Given the description of an element on the screen output the (x, y) to click on. 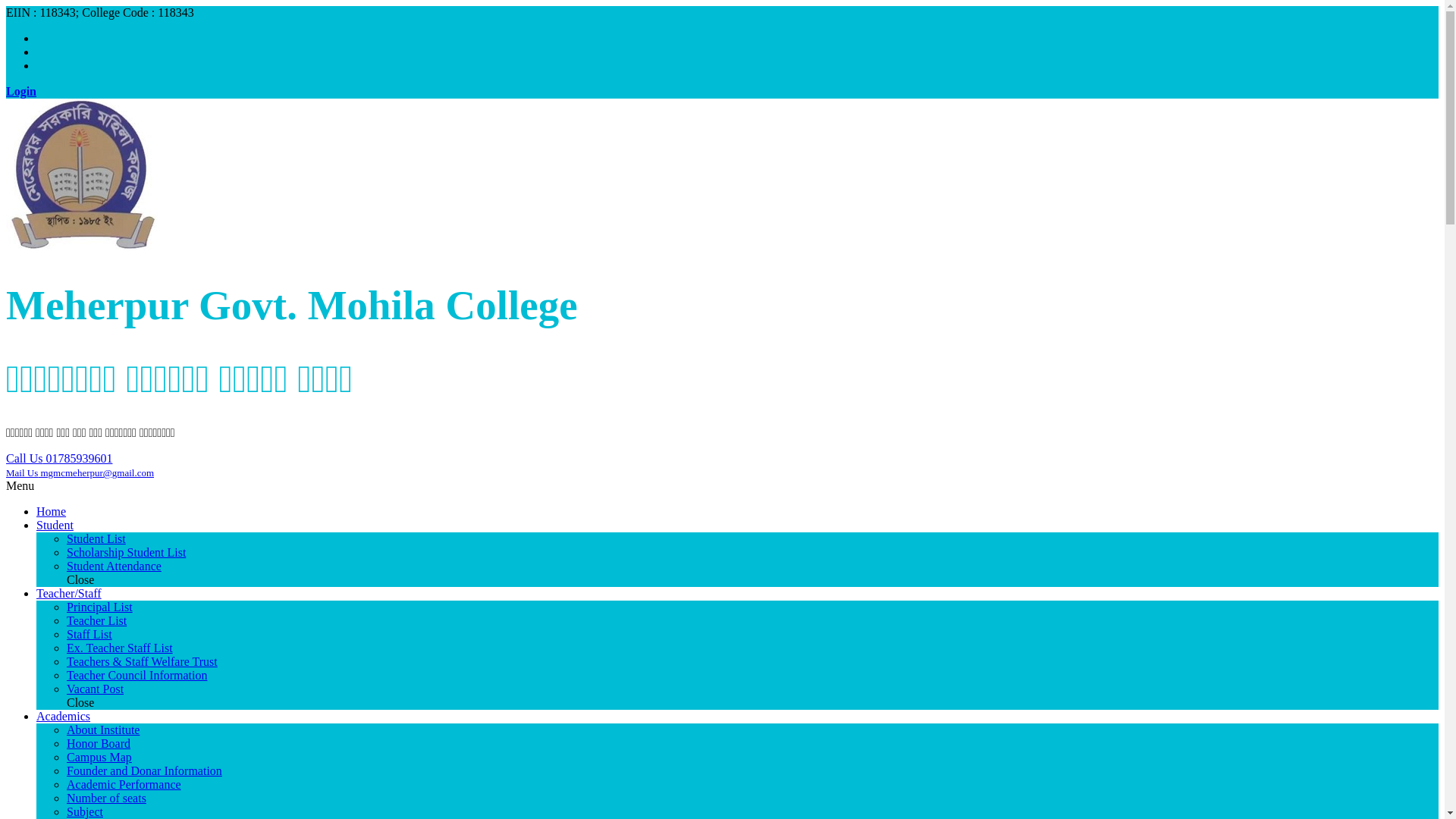
Founder and Donar Information Element type: text (144, 770)
Home Element type: text (50, 511)
Student List Element type: text (95, 538)
Student Attendance Element type: text (113, 565)
Login Element type: text (21, 90)
Teachers & Staff Welfare Trust Element type: text (141, 661)
Call Us 01785939601 Element type: text (59, 457)
Teacher/Staff Element type: text (68, 592)
Teacher Council Information Element type: text (136, 674)
Principal List Element type: text (99, 606)
Vacant Post Element type: text (94, 688)
Academic Performance Element type: text (123, 784)
Scholarship Student List Element type: text (125, 552)
Staff List Element type: text (89, 633)
Honor Board Element type: text (98, 743)
Menu Element type: text (20, 485)
About Institute Element type: text (102, 729)
Campus Map Element type: text (98, 756)
Student Element type: text (54, 524)
Subject Element type: text (84, 811)
Mail Us mgmcmeherpur@gmail.com Element type: text (79, 472)
Ex. Teacher Staff List Element type: text (119, 647)
Number of seats Element type: text (106, 797)
Teacher List Element type: text (96, 620)
Academics Element type: text (63, 715)
